Given the description of an element on the screen output the (x, y) to click on. 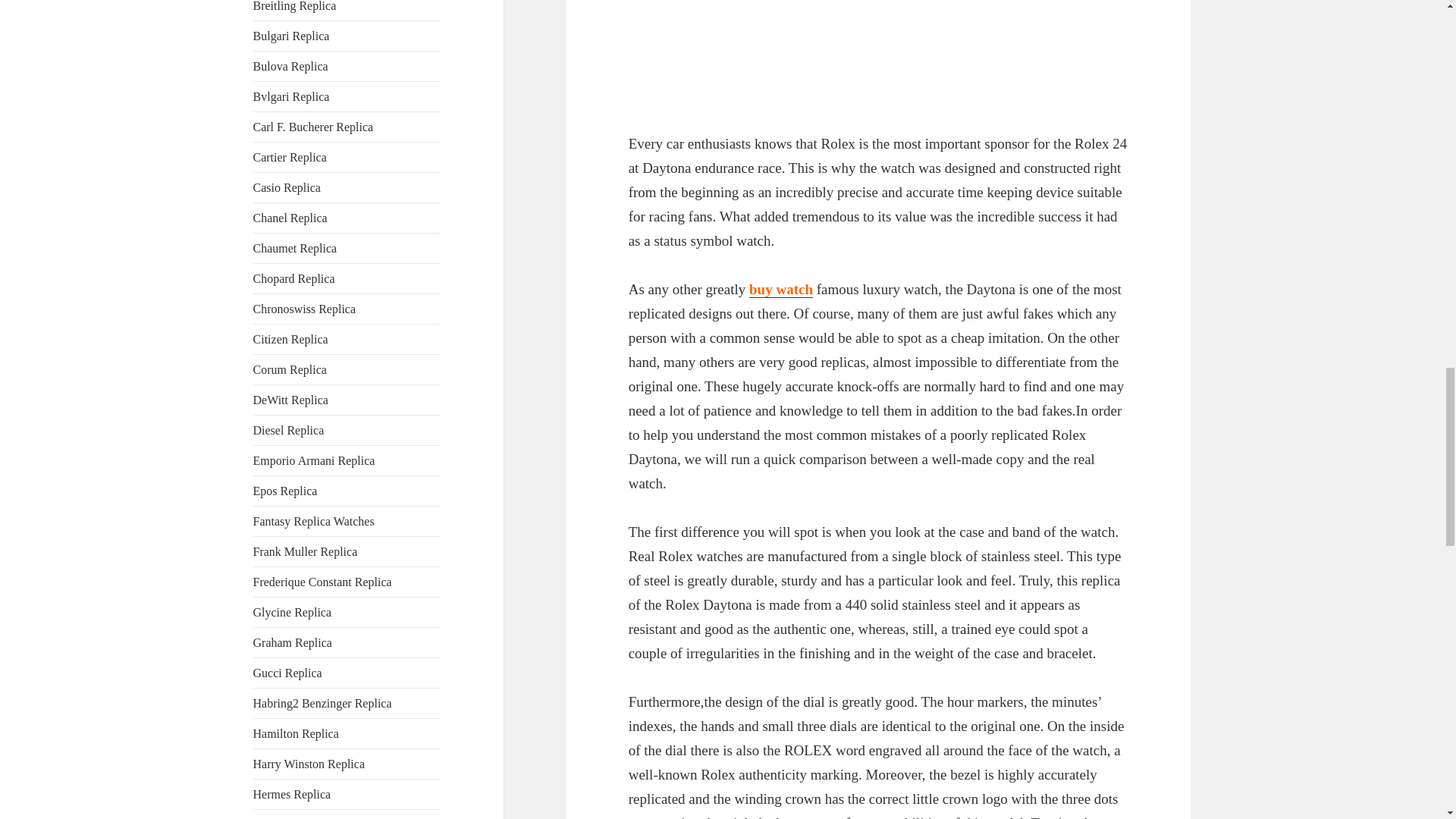
Bvlgari Replica (291, 96)
Casio Replica (286, 187)
Bulova Replica (291, 65)
Chanel Replica (290, 217)
Chronoswiss Replica (304, 308)
Cartier Replica (289, 156)
Fantasy Replica Watches (313, 521)
Corum Replica (289, 369)
Frank Muller Replica (305, 551)
Diesel Replica (288, 430)
DeWitt Replica (291, 399)
Epos Replica (285, 490)
Frederique Constant Replica (322, 581)
Chaumet Replica (295, 247)
Citizen Replica (291, 338)
